Given the description of an element on the screen output the (x, y) to click on. 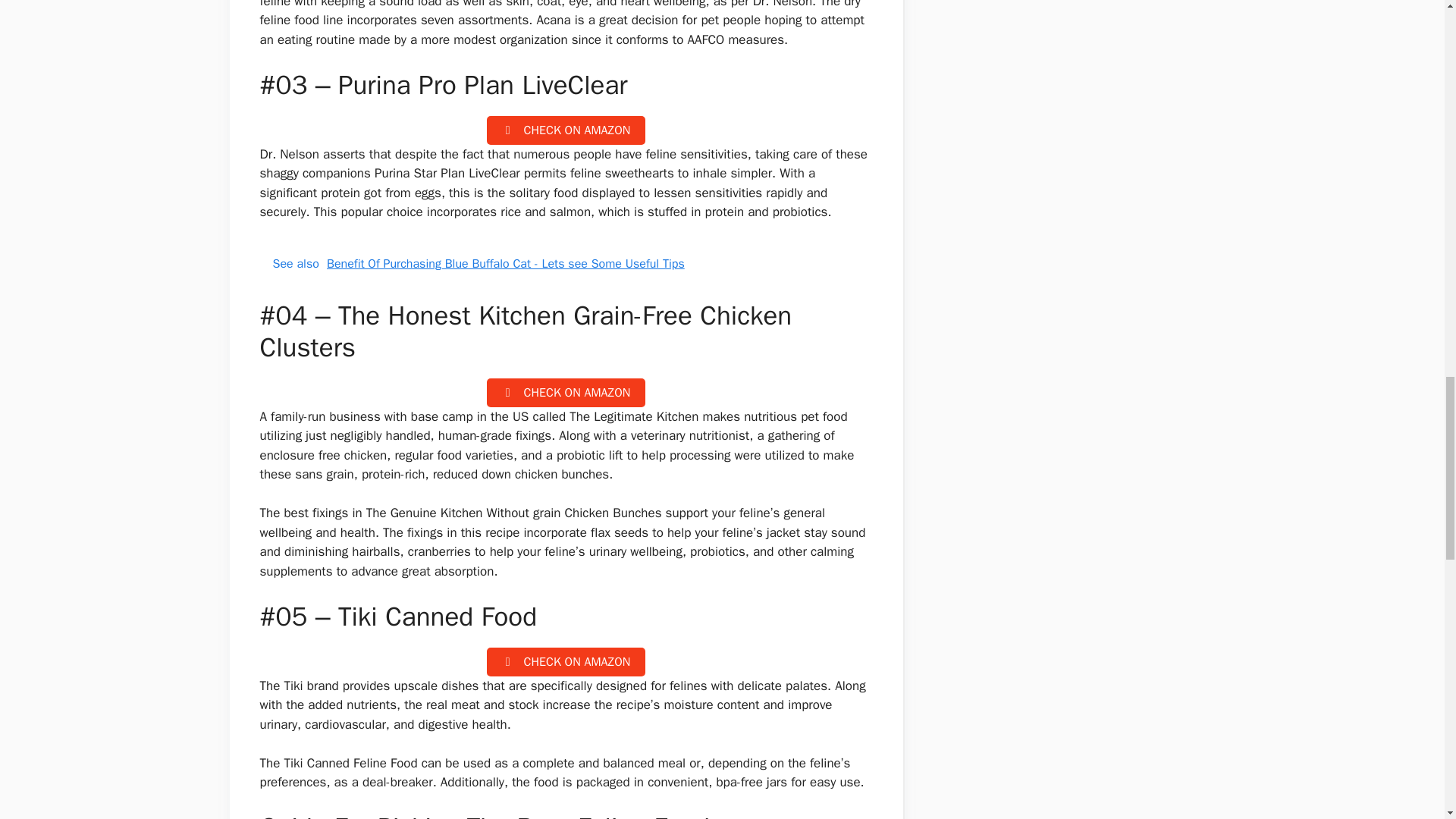
CHECK ON AMAZON (565, 129)
CHECK ON AMAZON (565, 391)
